Given the description of an element on the screen output the (x, y) to click on. 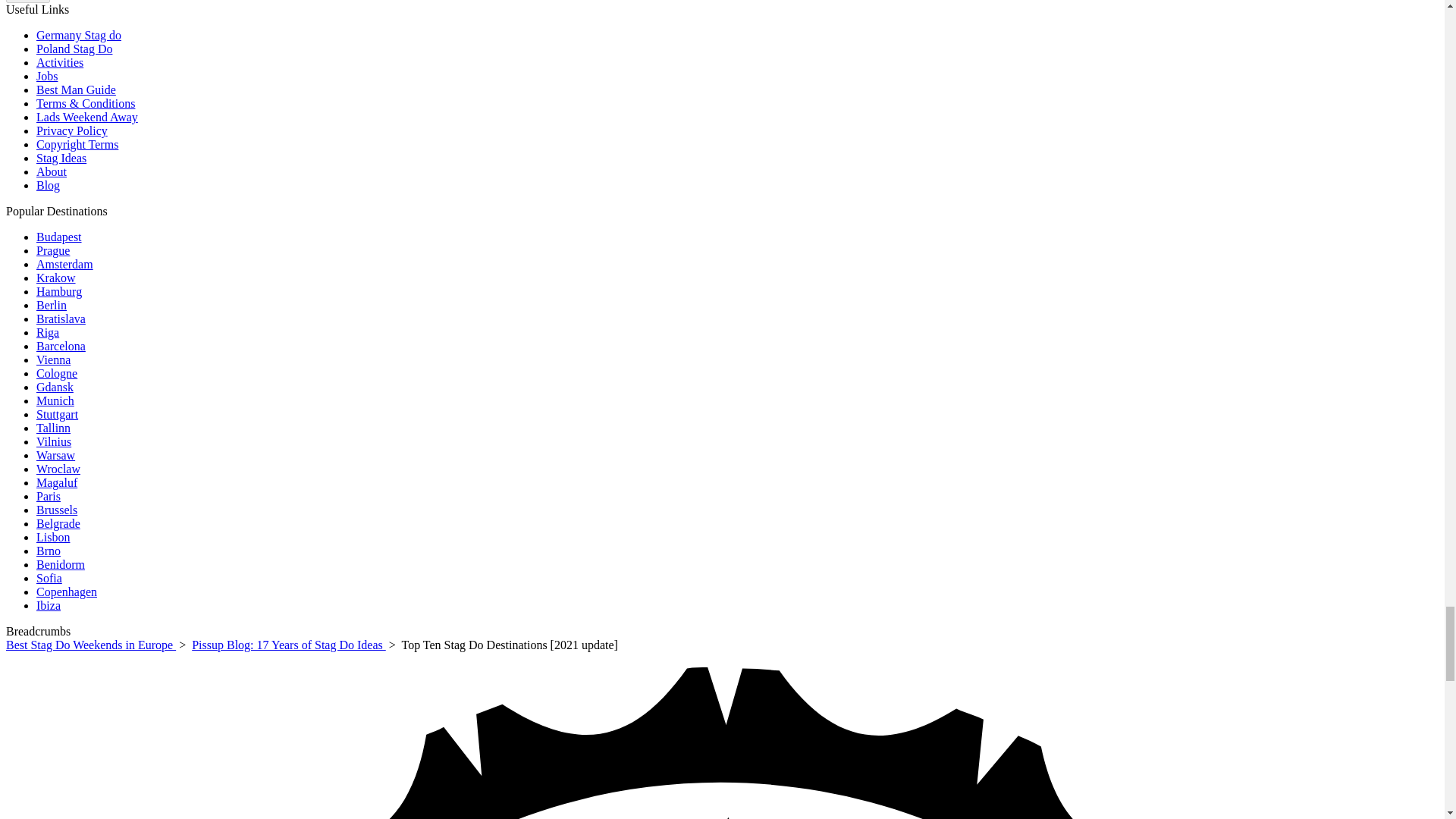
Prague Stag Do (52, 250)
Vienna Stag Do (52, 359)
Krakow Stag Do (55, 277)
Bratislava Stag Do (60, 318)
Hamburg Stag Do (58, 291)
Berlin Stag Do (51, 305)
Budapest Stag Do (58, 236)
Gdansk Stag Do (55, 386)
Cologne Stag Do (56, 373)
Barcelona Stag Do (60, 345)
Riga Stag Do (47, 332)
Amsterdam Stag Do (64, 264)
